Given the description of an element on the screen output the (x, y) to click on. 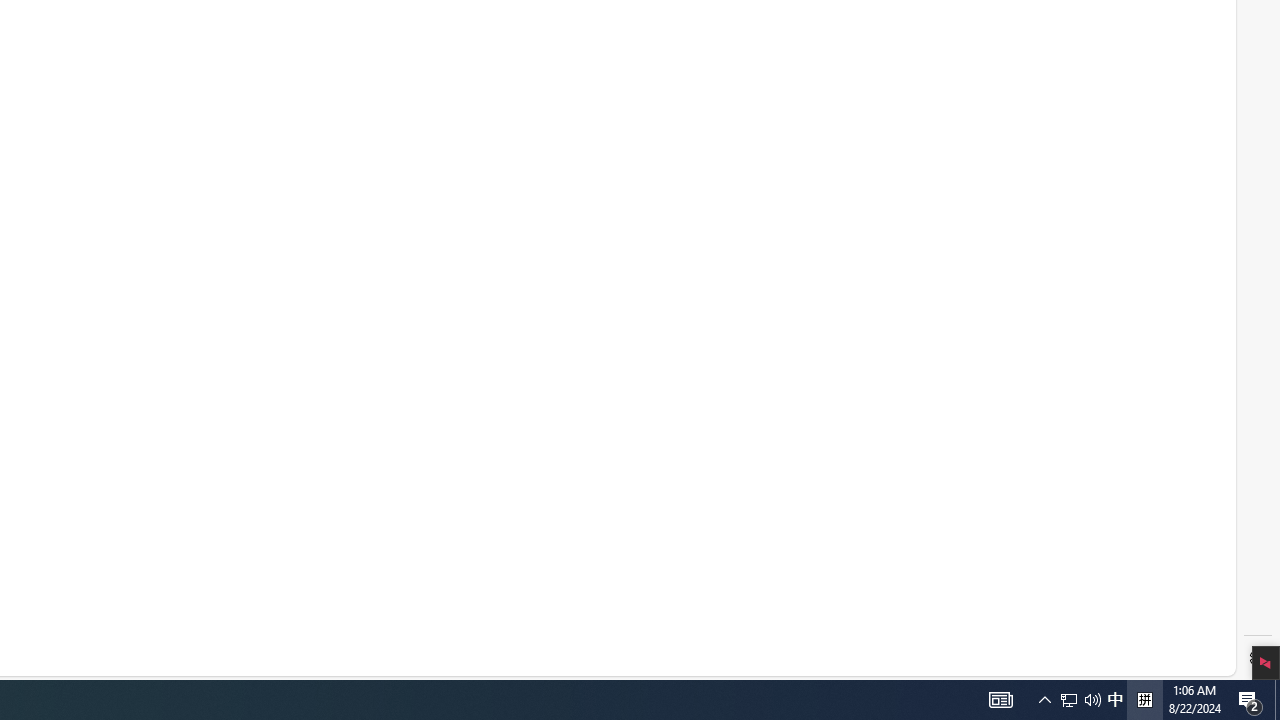
Settings (1258, 658)
